Given the description of an element on the screen output the (x, y) to click on. 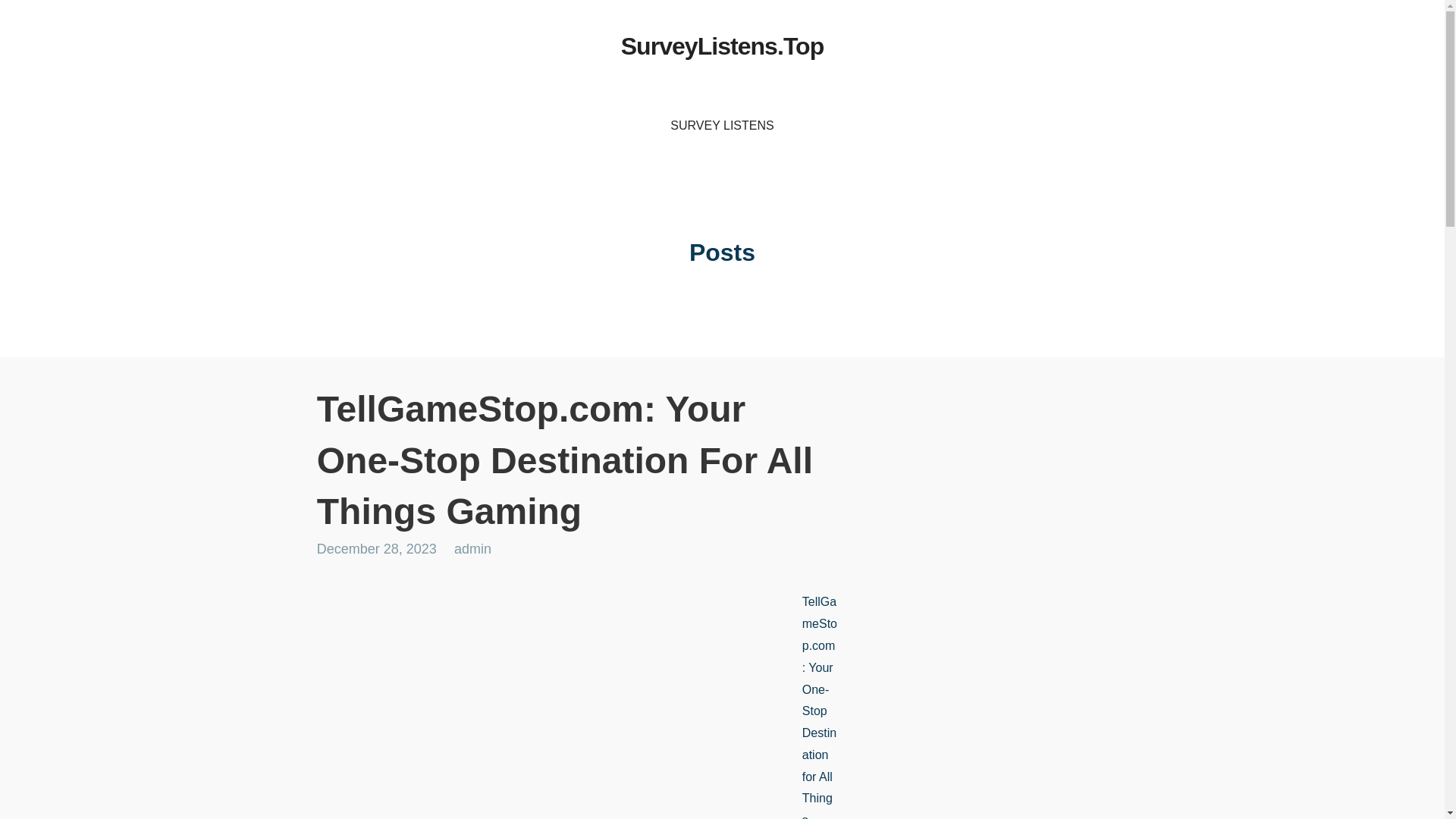
Posts by admin (473, 548)
admin (473, 548)
SURVEY LISTENS (722, 126)
SurveyListens.Top (722, 45)
